Given the description of an element on the screen output the (x, y) to click on. 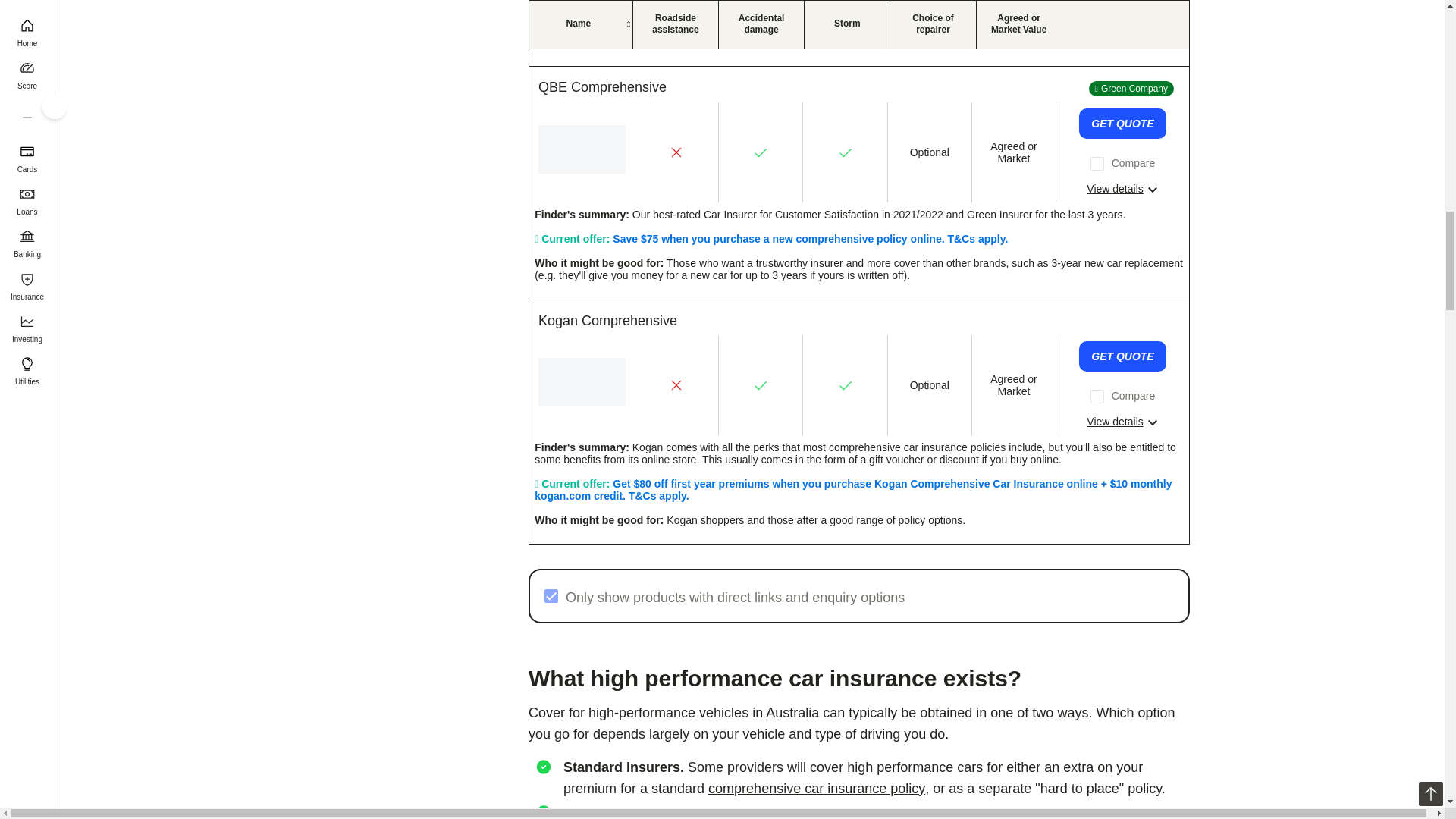
Read More About The Kogan Comprehensive (1122, 421)
Apply Now For The QBE Comprehensive  (1122, 123)
Read More About The QBE Comprehensive  (1122, 188)
Apply Now For The Kogan Comprehensive (1122, 356)
